Given the description of an element on the screen output the (x, y) to click on. 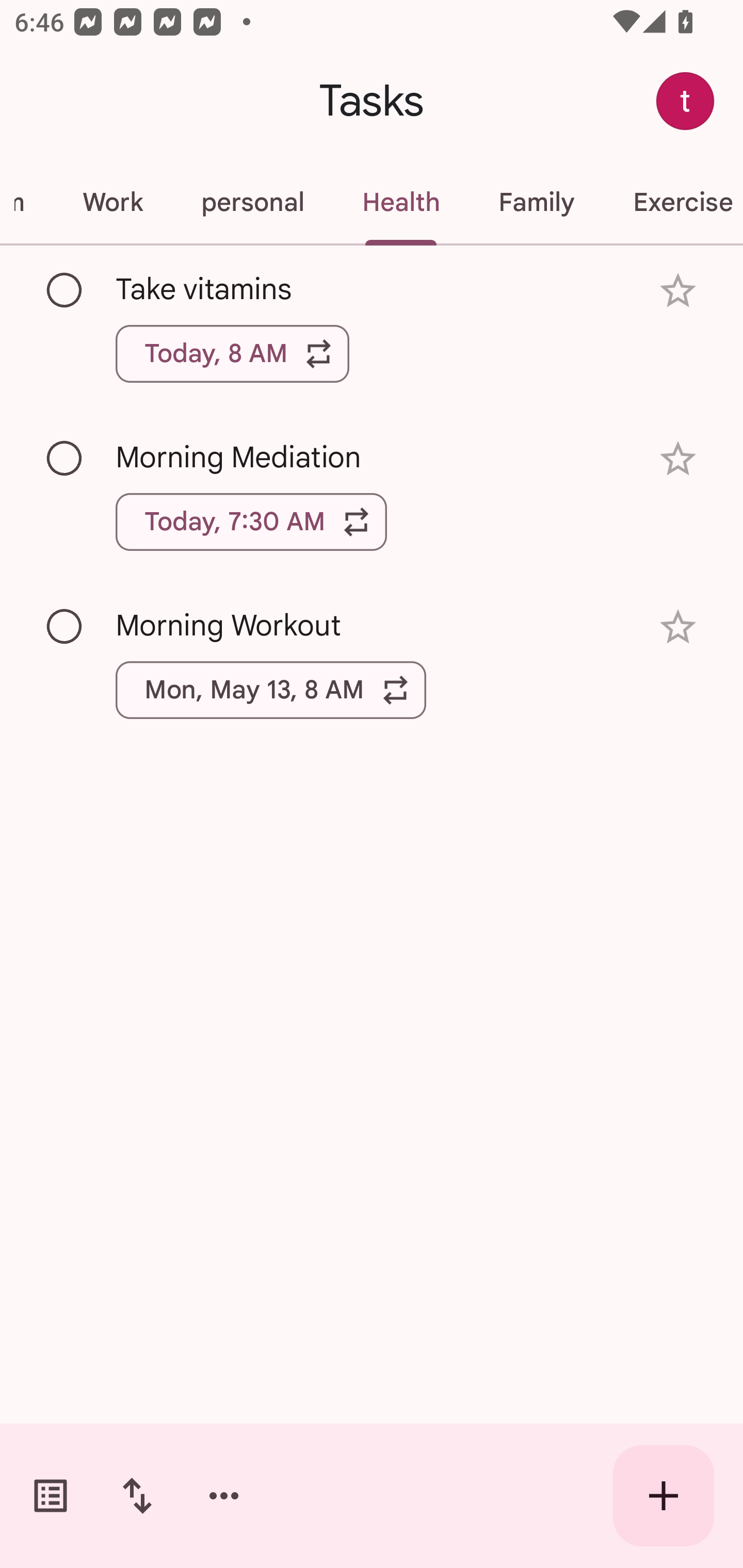
Work (112, 202)
personal (251, 202)
Family (535, 202)
Exercise (673, 202)
Add star (677, 290)
Mark as complete (64, 290)
Today, 8 AM (232, 353)
Add star (677, 458)
Mark as complete (64, 459)
Today, 7:30 AM (251, 522)
Add star (677, 627)
Mark as complete (64, 627)
Mon, May 13, 8 AM (270, 689)
Switch task lists (50, 1495)
Create new task (663, 1495)
Change sort order (136, 1495)
More options (223, 1495)
